Given the description of an element on the screen output the (x, y) to click on. 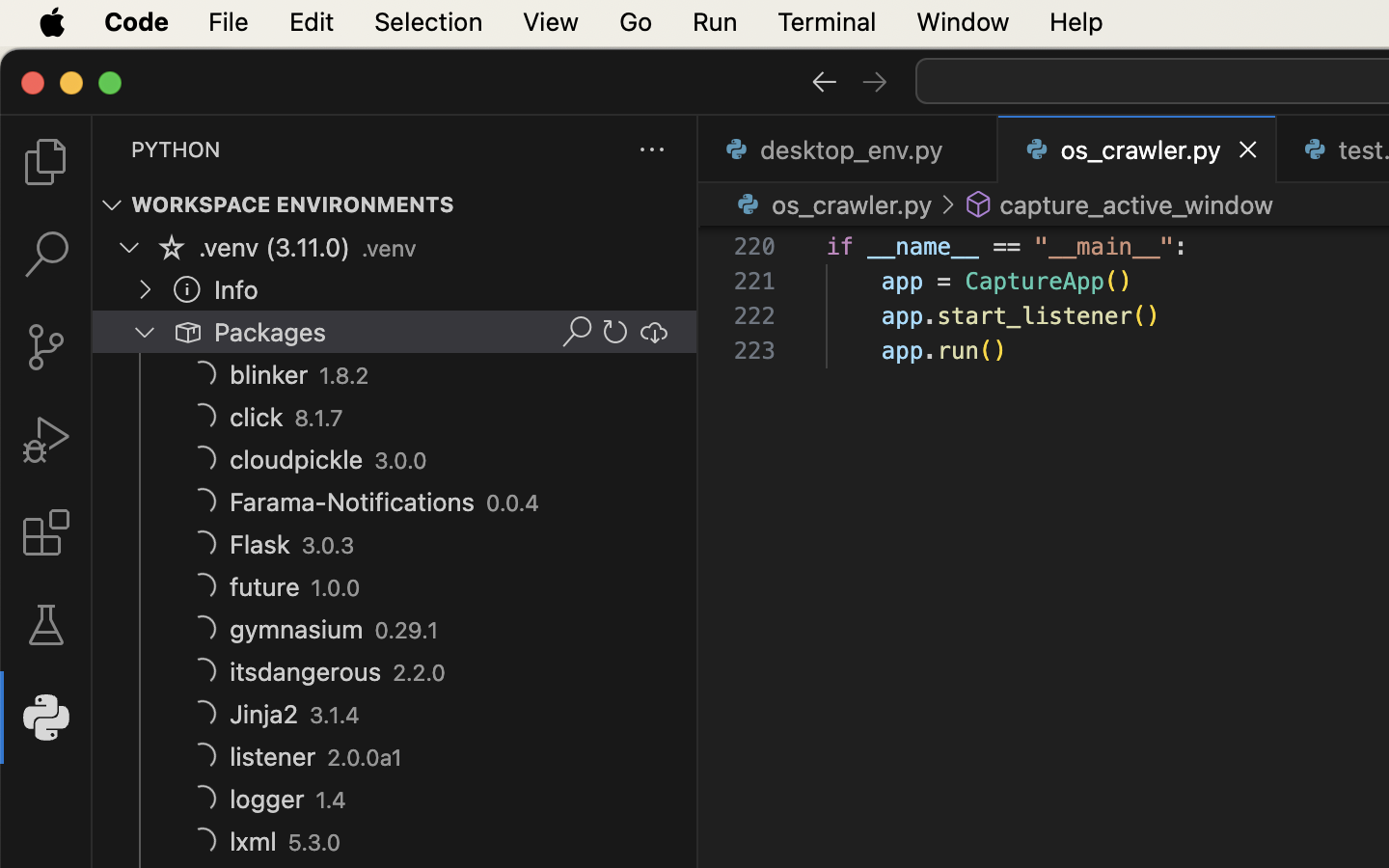
click Element type: AXStaticText (256, 417)
 Element type: AXStaticText (202, 373)
WORKSPACE ENVIRONMENTS Element type: AXStaticText (293, 204)
8.1.7 Element type: AXStaticText (319, 418)
.venv Element type: AXStaticText (388, 248)
